Given the description of an element on the screen output the (x, y) to click on. 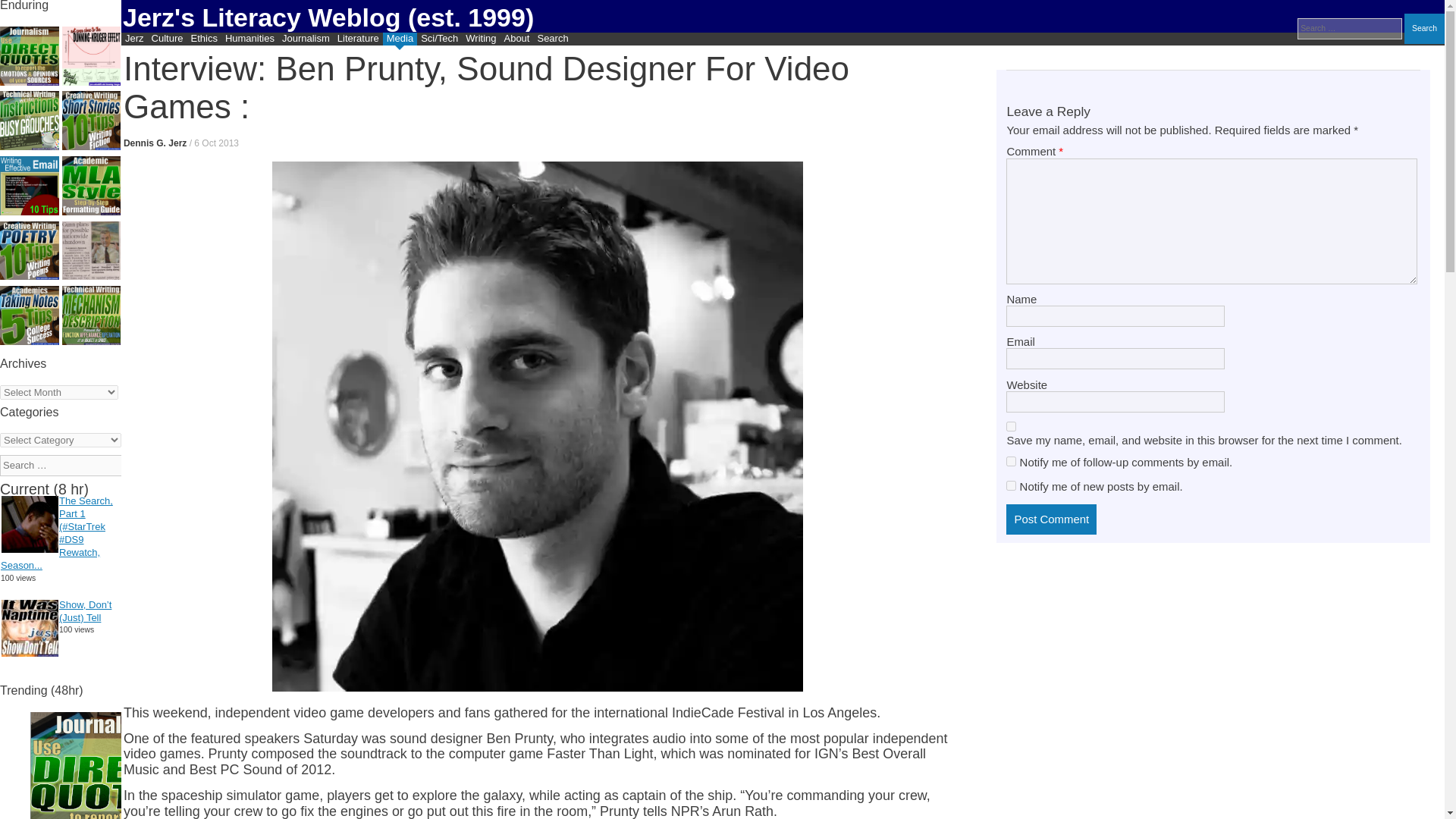
Media (399, 38)
Culture (167, 38)
Quotations: Using them Effectively in Journalism (29, 57)
Jerz (134, 38)
Post Comment (1051, 519)
yes (1011, 426)
Journalism (305, 38)
Ethics (203, 38)
